Given the description of an element on the screen output the (x, y) to click on. 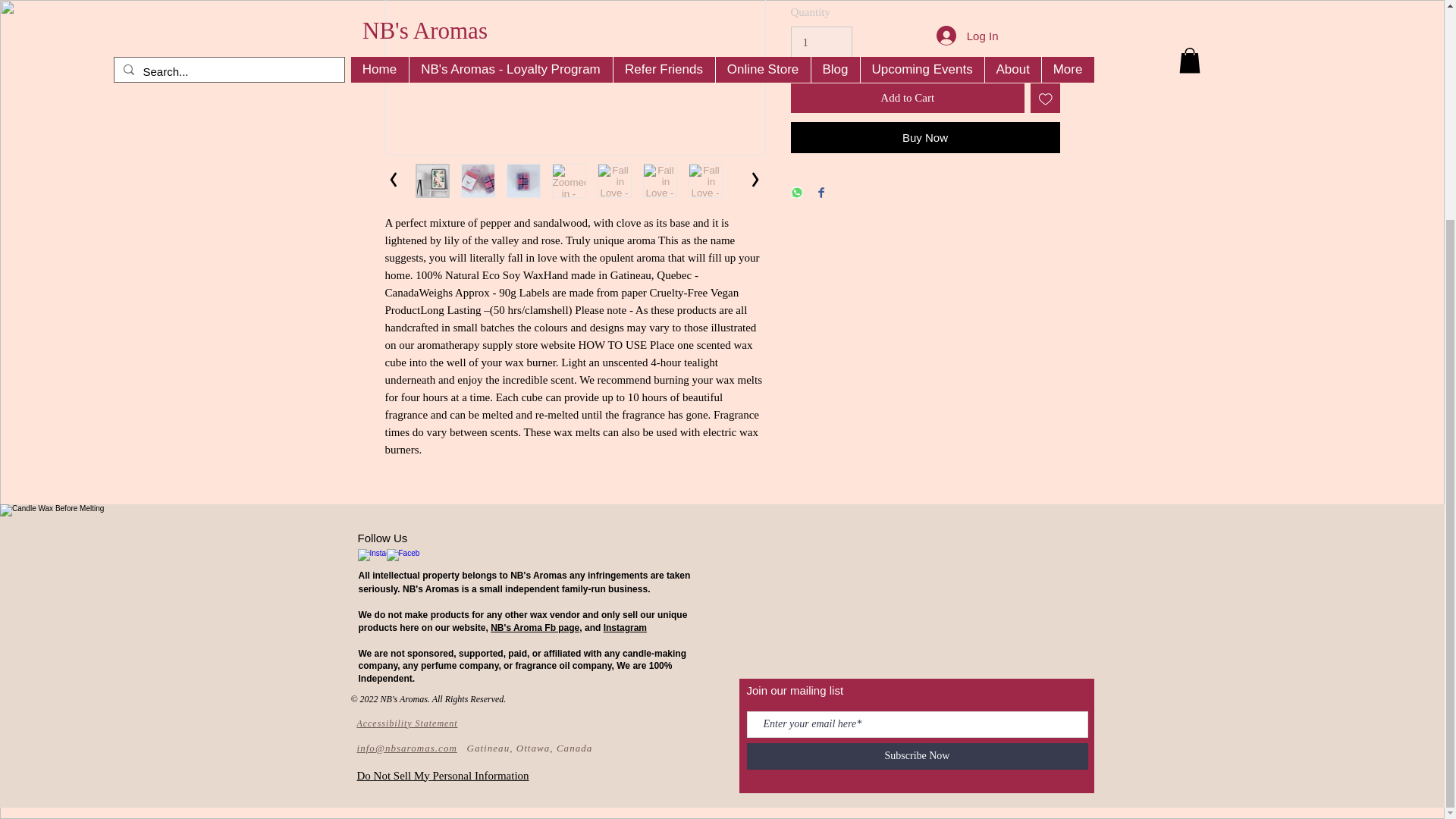
NB's Aroma Fb page, (535, 627)
1 (820, 42)
Buy Now (924, 137)
Add to Cart (907, 98)
Instagram (625, 627)
